Given the description of an element on the screen output the (x, y) to click on. 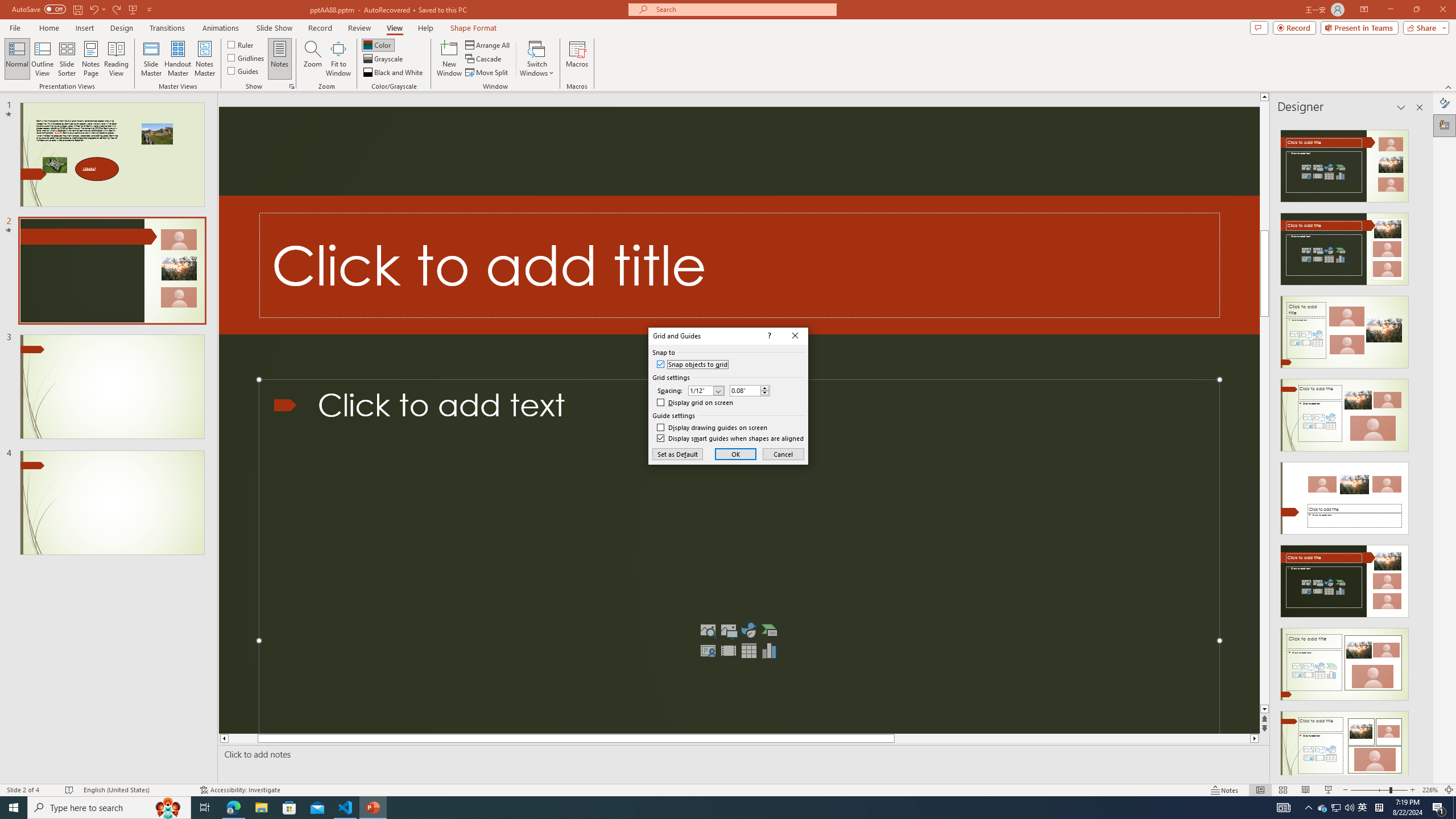
New Window (449, 58)
Zoom... (312, 58)
Insert Video (1322, 807)
Class: NetUIScrollBar (728, 650)
